Given the description of an element on the screen output the (x, y) to click on. 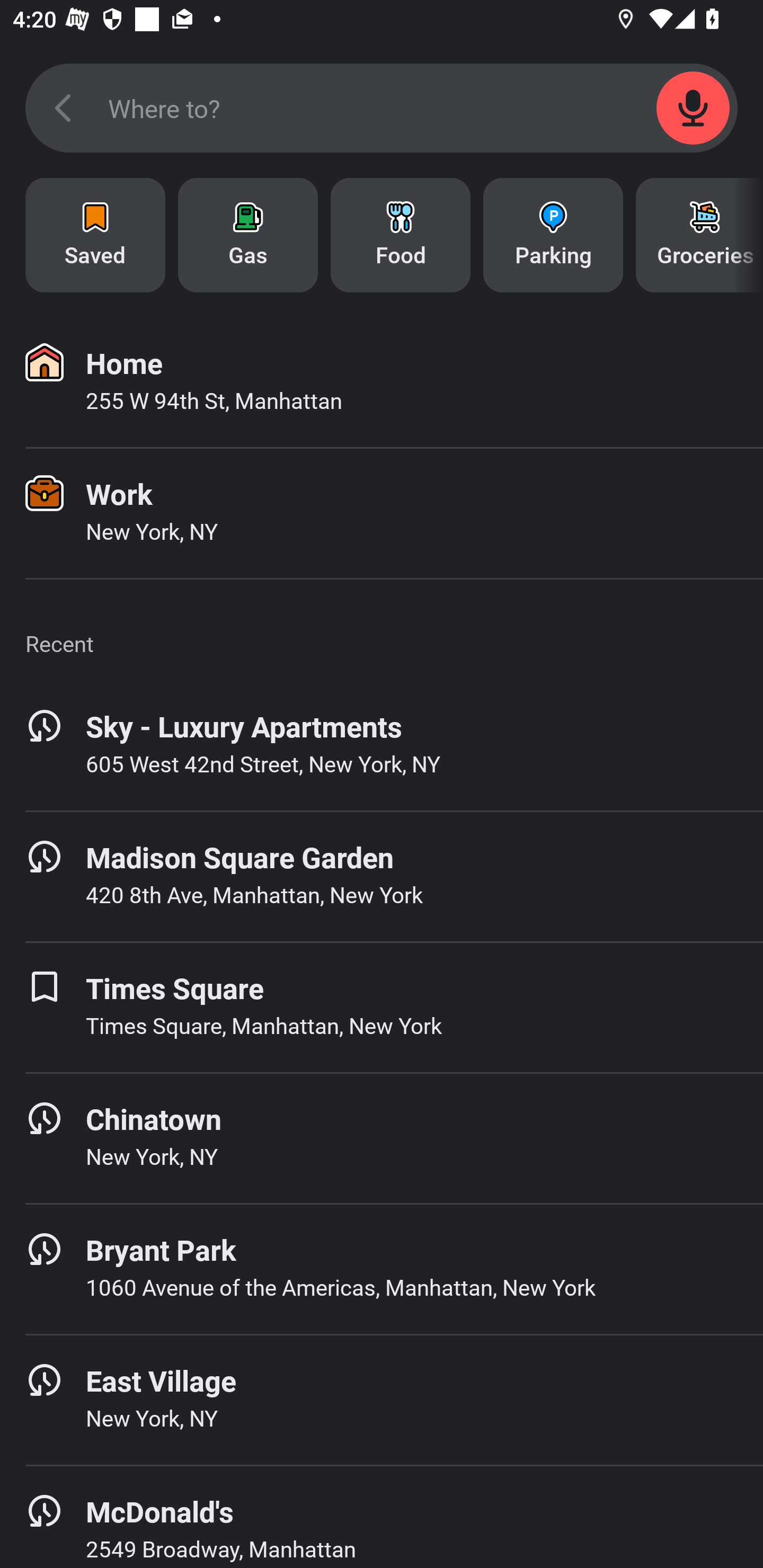
SEARCH_SCREEN_SEARCH_FIELD Where to? (381, 108)
Saved (95, 234)
Gas (247, 234)
Food (400, 234)
Parking (552, 234)
Groceries (699, 234)
Home 255 W 94th St, Manhattan (381, 382)
Work New York, NY (381, 513)
Times Square Times Square, Manhattan, New York (381, 1007)
Chinatown New York, NY (381, 1138)
East Village New York, NY (381, 1399)
McDonald's 2549 Broadway, Manhattan (381, 1517)
